Given the description of an element on the screen output the (x, y) to click on. 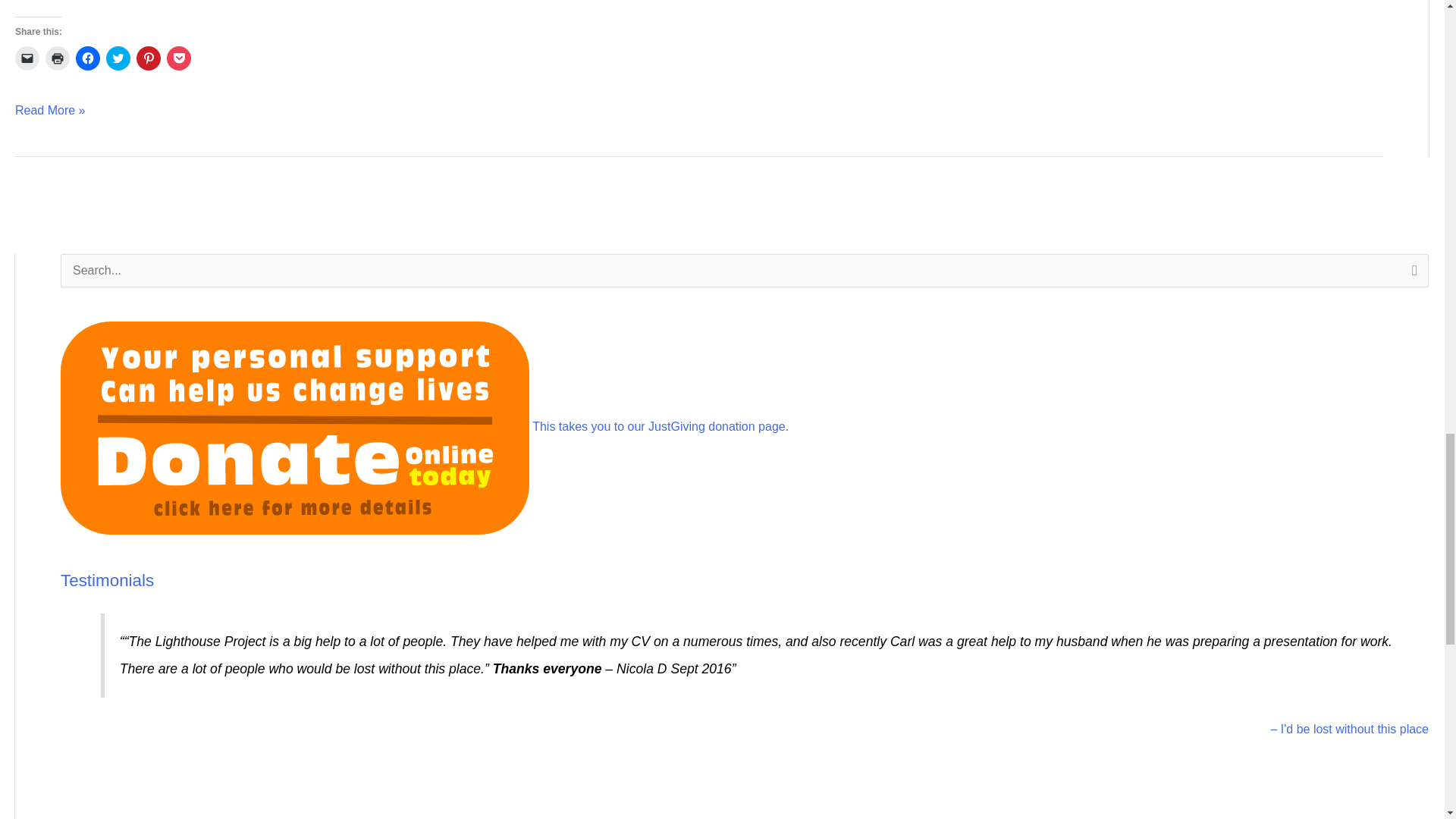
Click to print (57, 57)
Click to share on Pinterest (148, 57)
Click to email a link to a friend (26, 57)
Click to share on Pocket (178, 57)
Click to share on Facebook (87, 57)
Click to share on Twitter (118, 57)
